Given the description of an element on the screen output the (x, y) to click on. 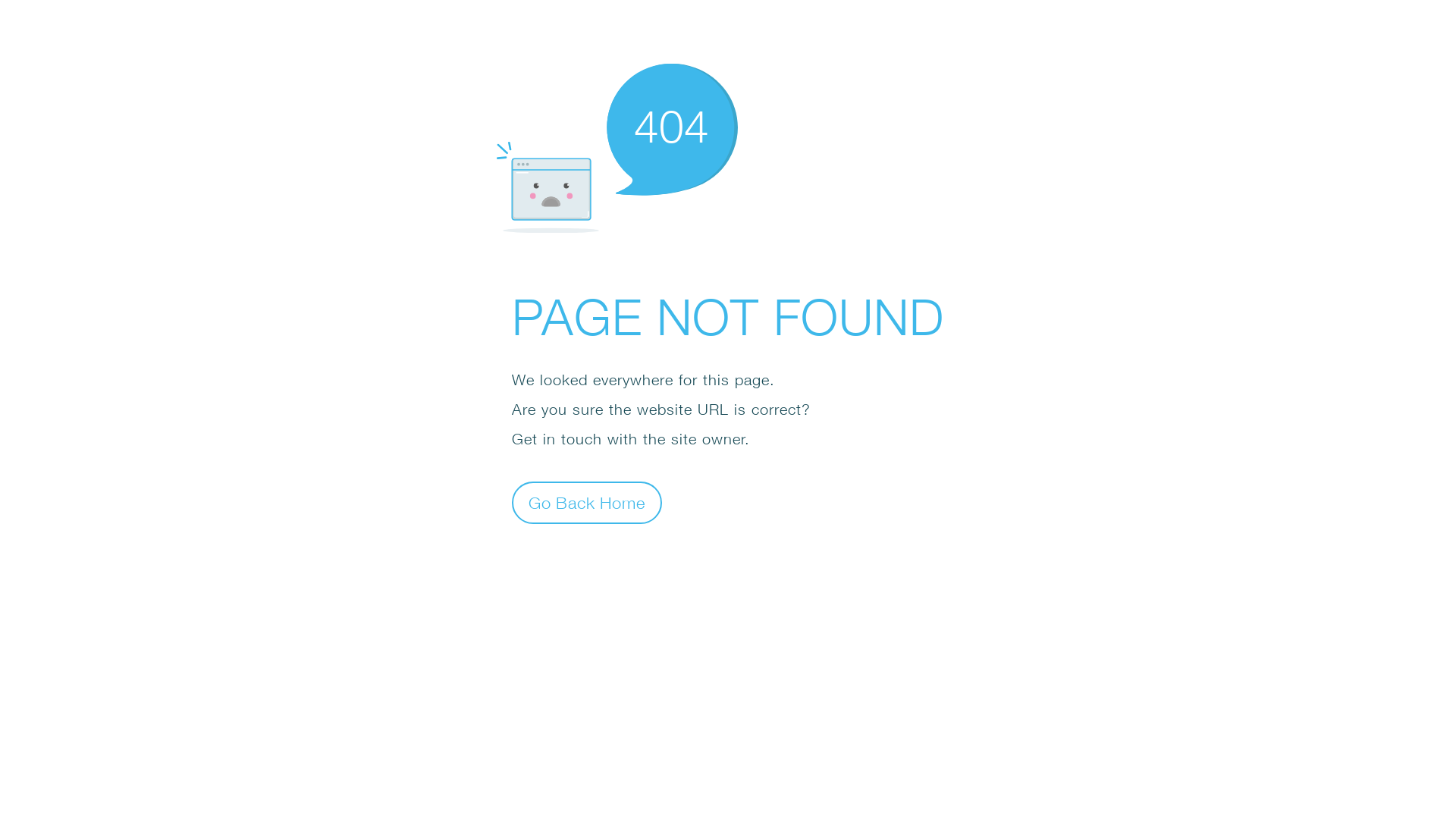
Go Back Home Element type: text (586, 502)
